Given the description of an element on the screen output the (x, y) to click on. 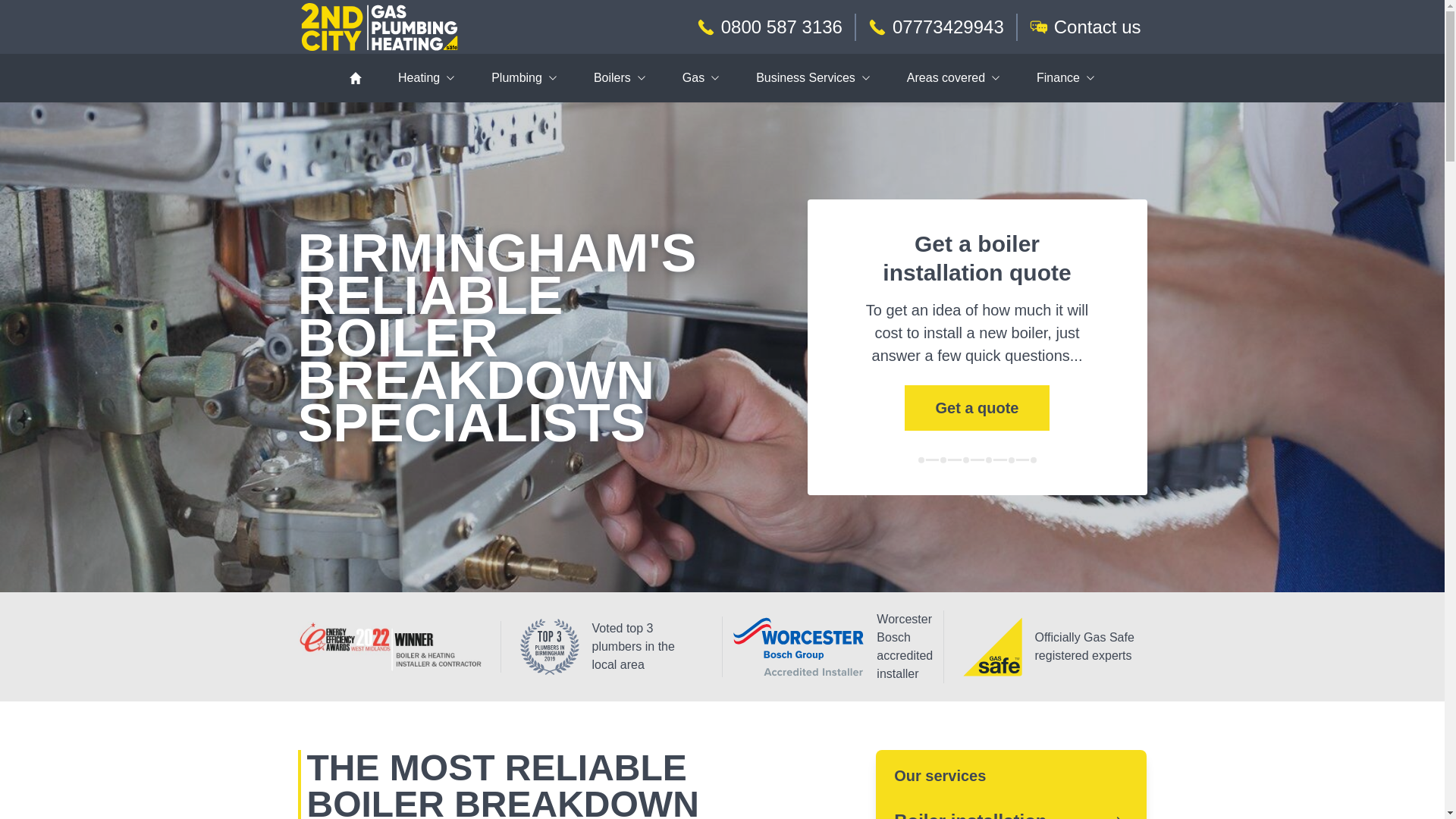
0800 587 3136 (769, 26)
Gas (700, 78)
Heating (426, 78)
Contact us (1081, 26)
Plumbing (524, 78)
07773429943 (935, 26)
Boilers (619, 78)
